Given the description of an element on the screen output the (x, y) to click on. 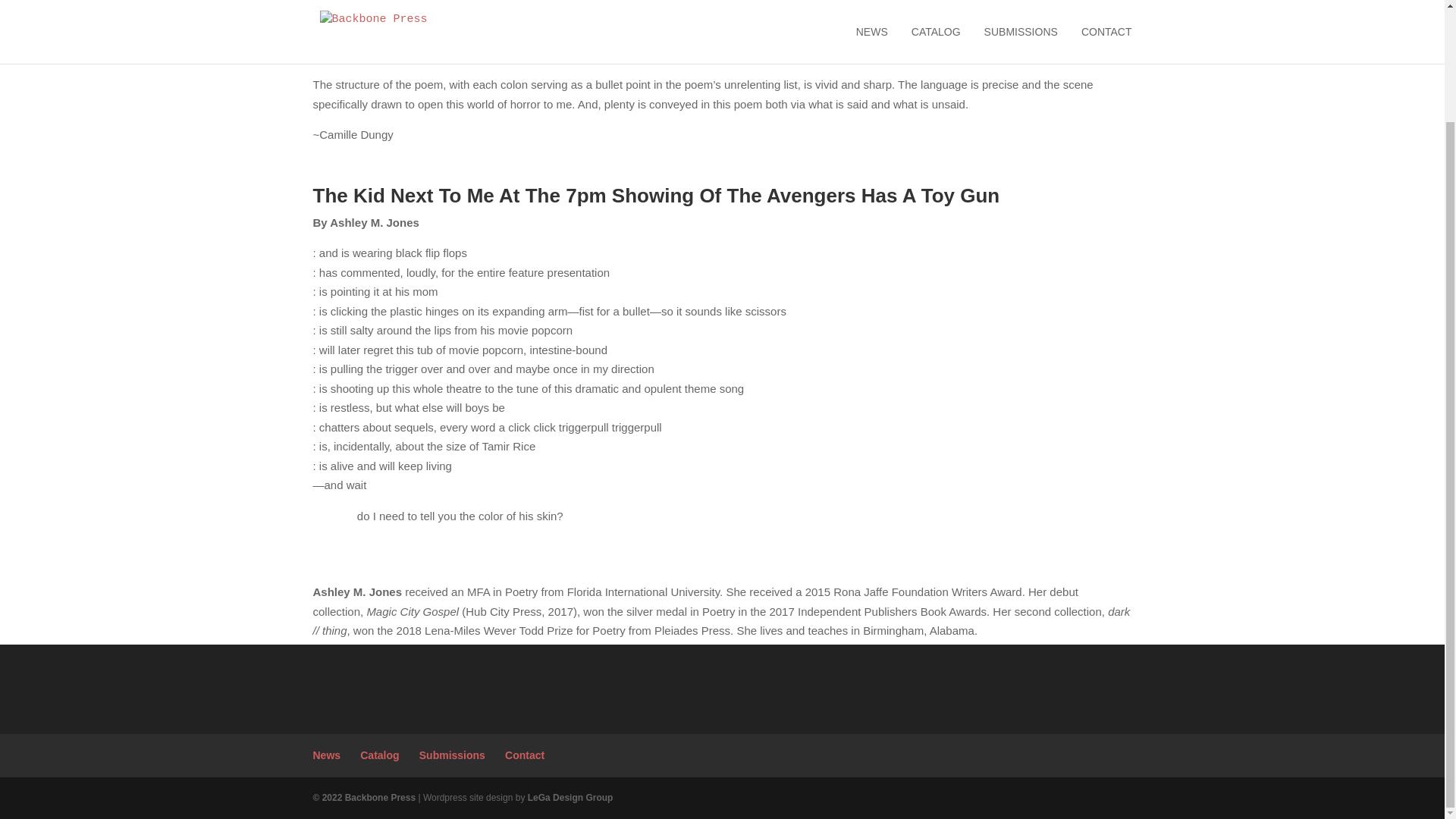
News (326, 755)
Submissions (451, 755)
Catalog (378, 755)
Contact (524, 755)
LeGa Design Group (569, 797)
